Given the description of an element on the screen output the (x, y) to click on. 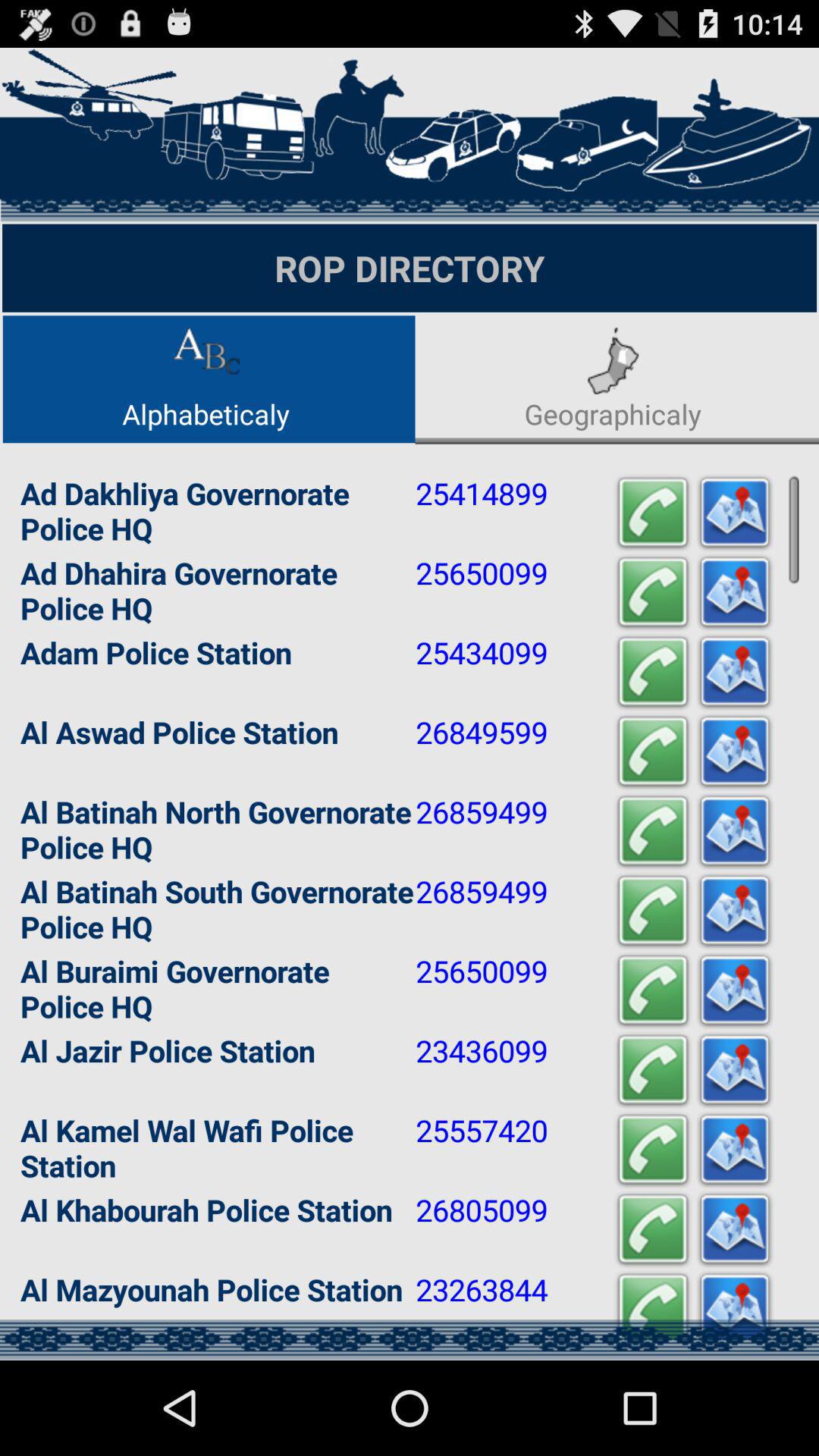
call this number (652, 751)
